Given the description of an element on the screen output the (x, y) to click on. 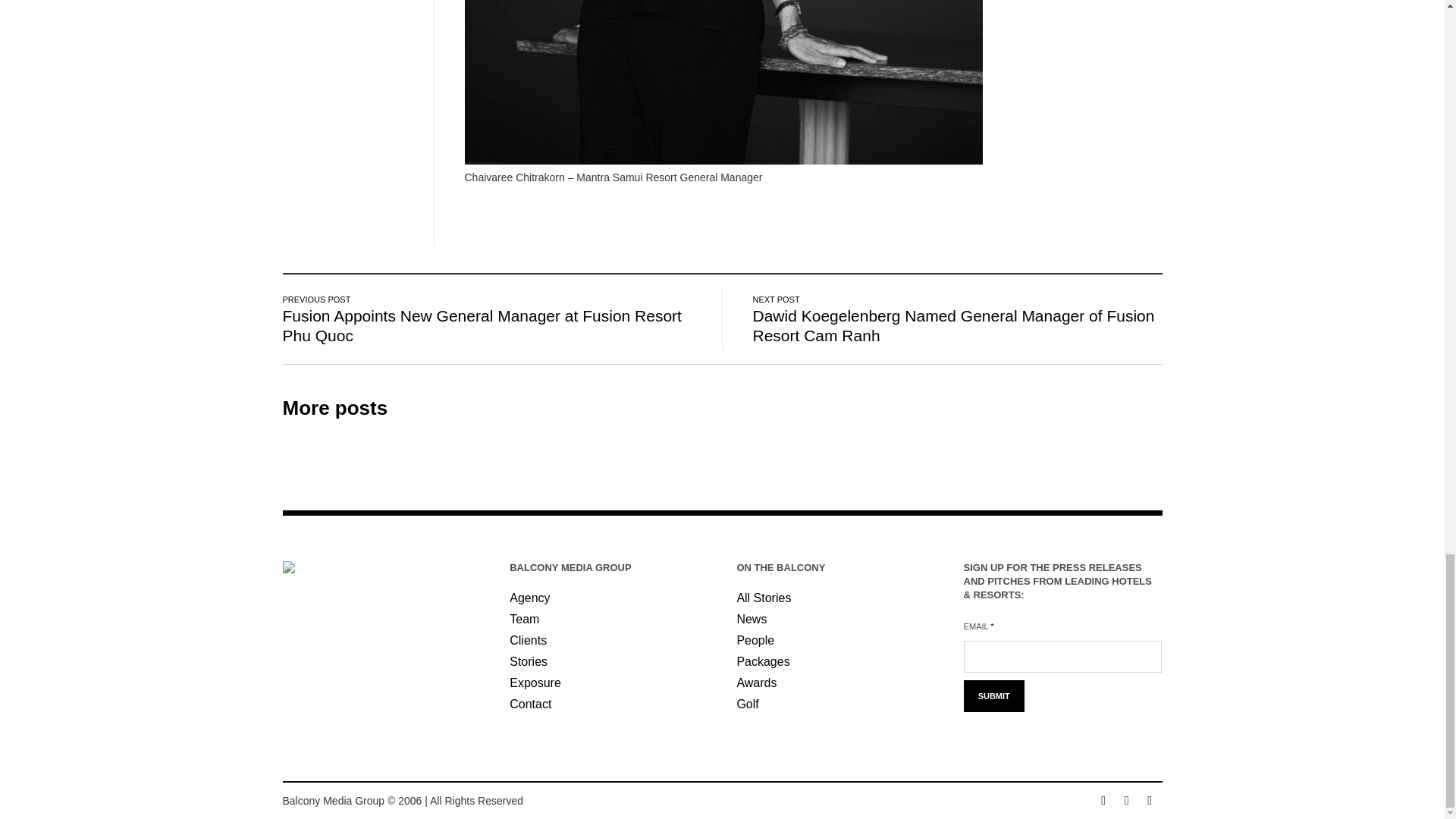
Facebook (1103, 800)
Agency (529, 597)
Instagram (1126, 800)
Team (523, 618)
Clients (528, 640)
Stories (528, 661)
Contact (530, 703)
Exposure (534, 682)
Twitter (1149, 800)
